Given the description of an element on the screen output the (x, y) to click on. 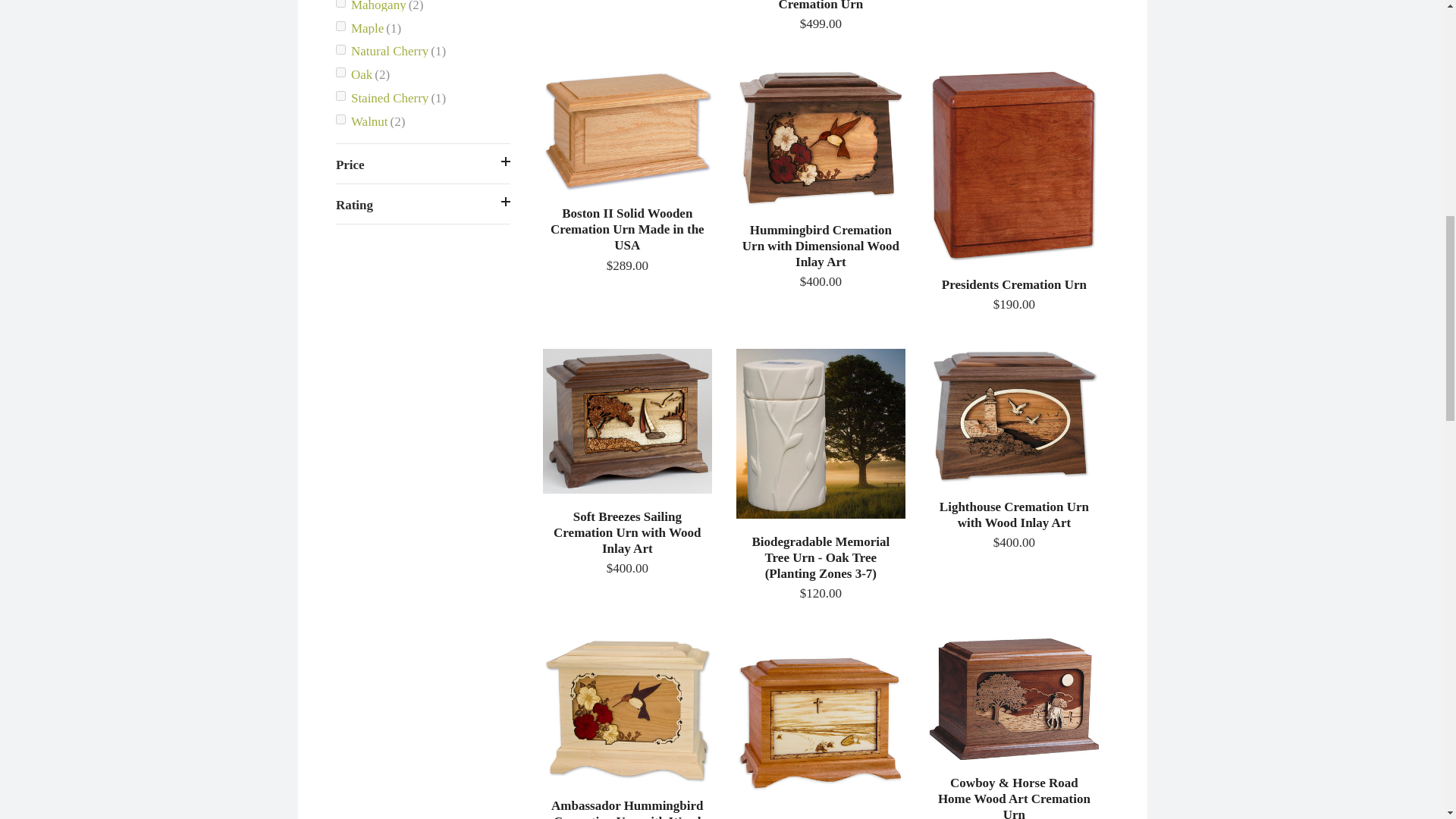
Oak (423, 73)
Stained Cherry (423, 96)
Mahogany (423, 7)
on (341, 119)
Maple (423, 27)
Natural Cherry (423, 51)
Walnut (423, 120)
on (341, 95)
on (341, 26)
on (341, 3)
on (341, 71)
on (341, 49)
